Given the description of an element on the screen output the (x, y) to click on. 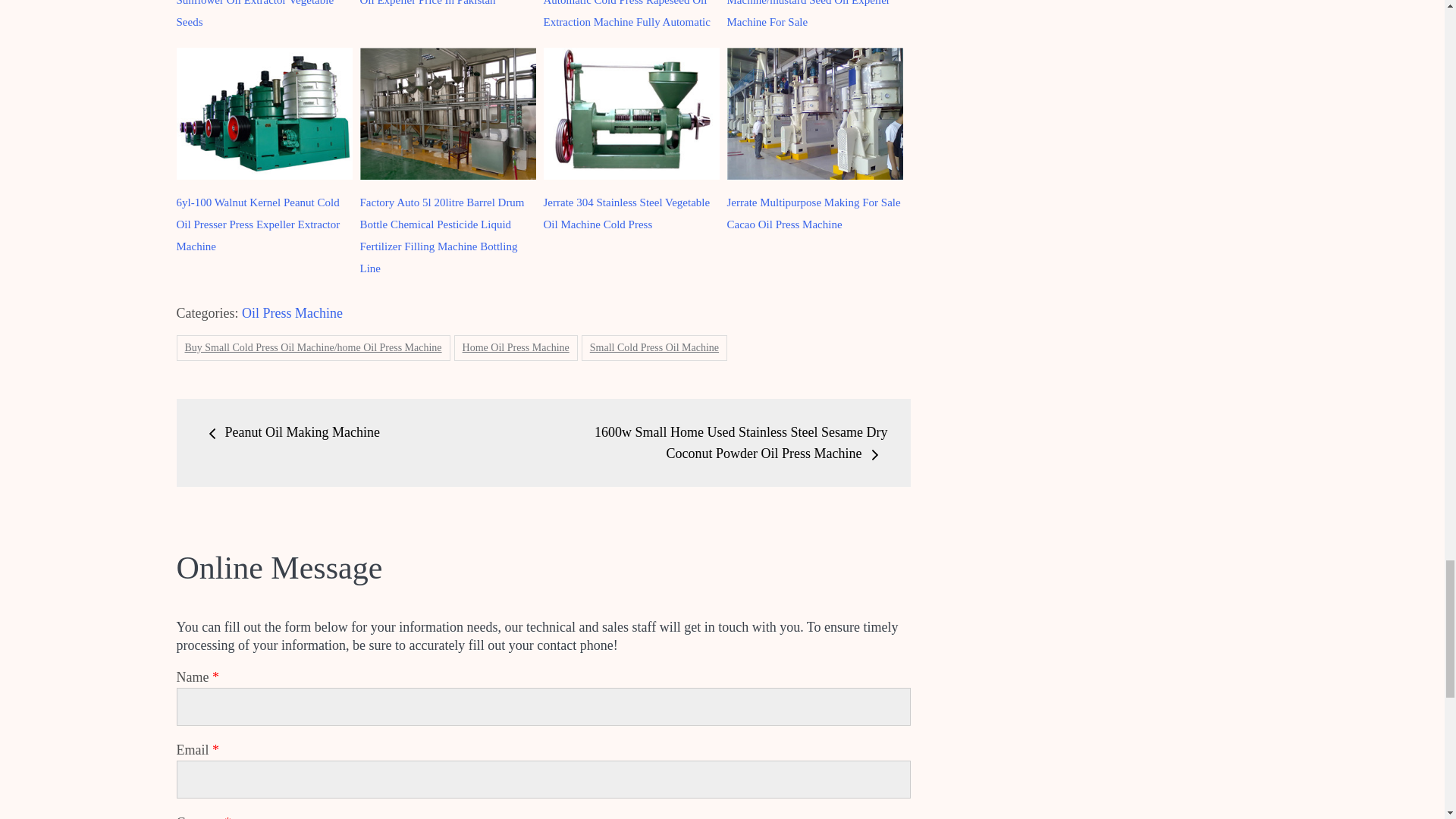
Jerrate 304 Stainless Steel Vegetable Oil Machine Cold Press (626, 213)
Jerrate Multipurpose Making For Sale Cacao Oil Press Machine (812, 213)
